Given the description of an element on the screen output the (x, y) to click on. 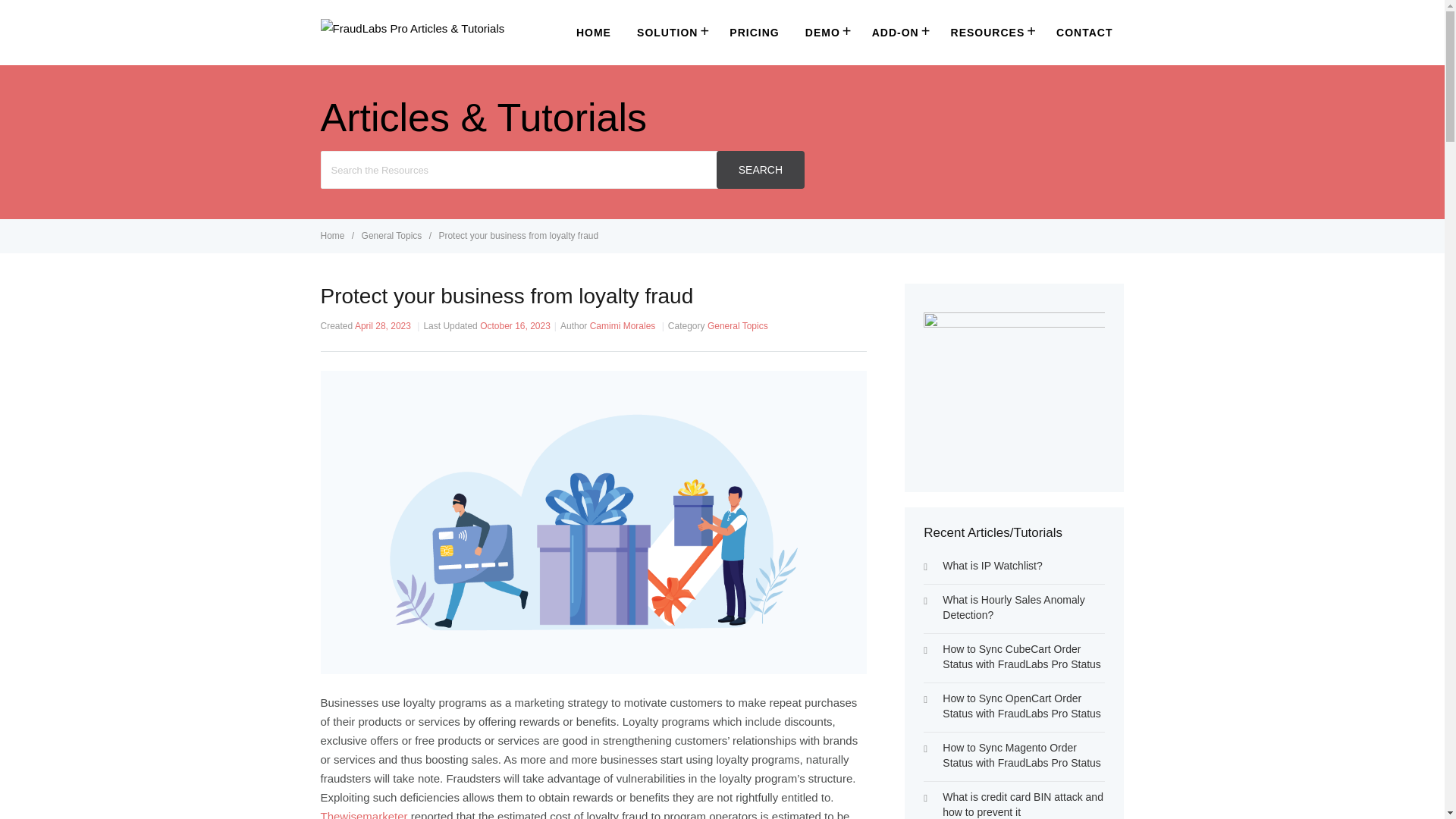
April 28, 2023 (382, 326)
Thewisemarketer (363, 814)
October 16, 2023 (515, 326)
SEARCH (759, 169)
General Topics (737, 326)
HOME (593, 32)
Protect your business from loyalty fraud (518, 235)
ADD-ON (898, 31)
Camimi Morales (622, 326)
DEMO (825, 31)
General Topics (393, 235)
CONTACT (1084, 32)
RESOURCES (990, 31)
Home (333, 235)
SOLUTION (670, 31)
